Given the description of an element on the screen output the (x, y) to click on. 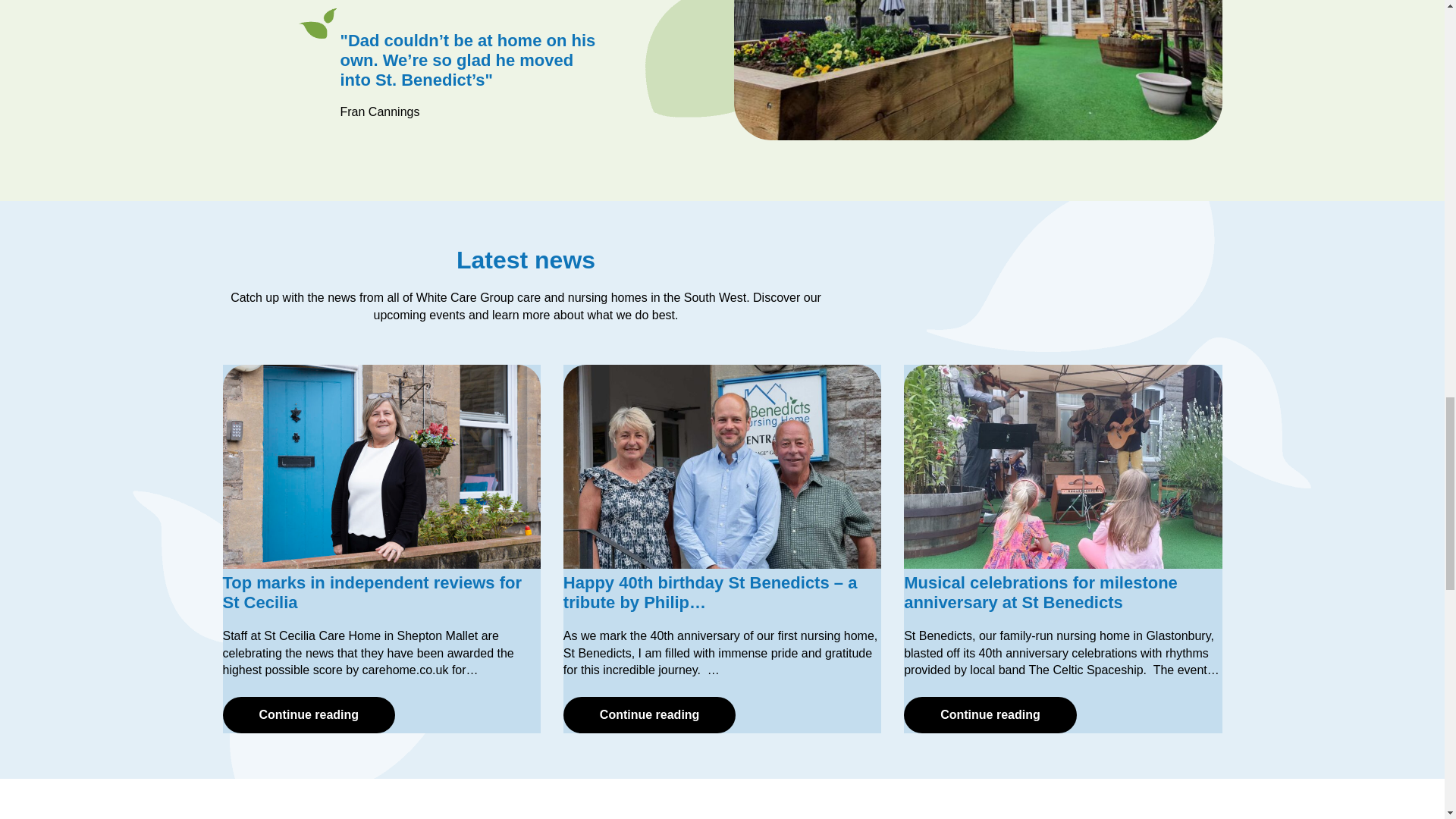
Continue reading (990, 714)
Continue reading (309, 714)
Continue reading (649, 714)
